Given the description of an element on the screen output the (x, y) to click on. 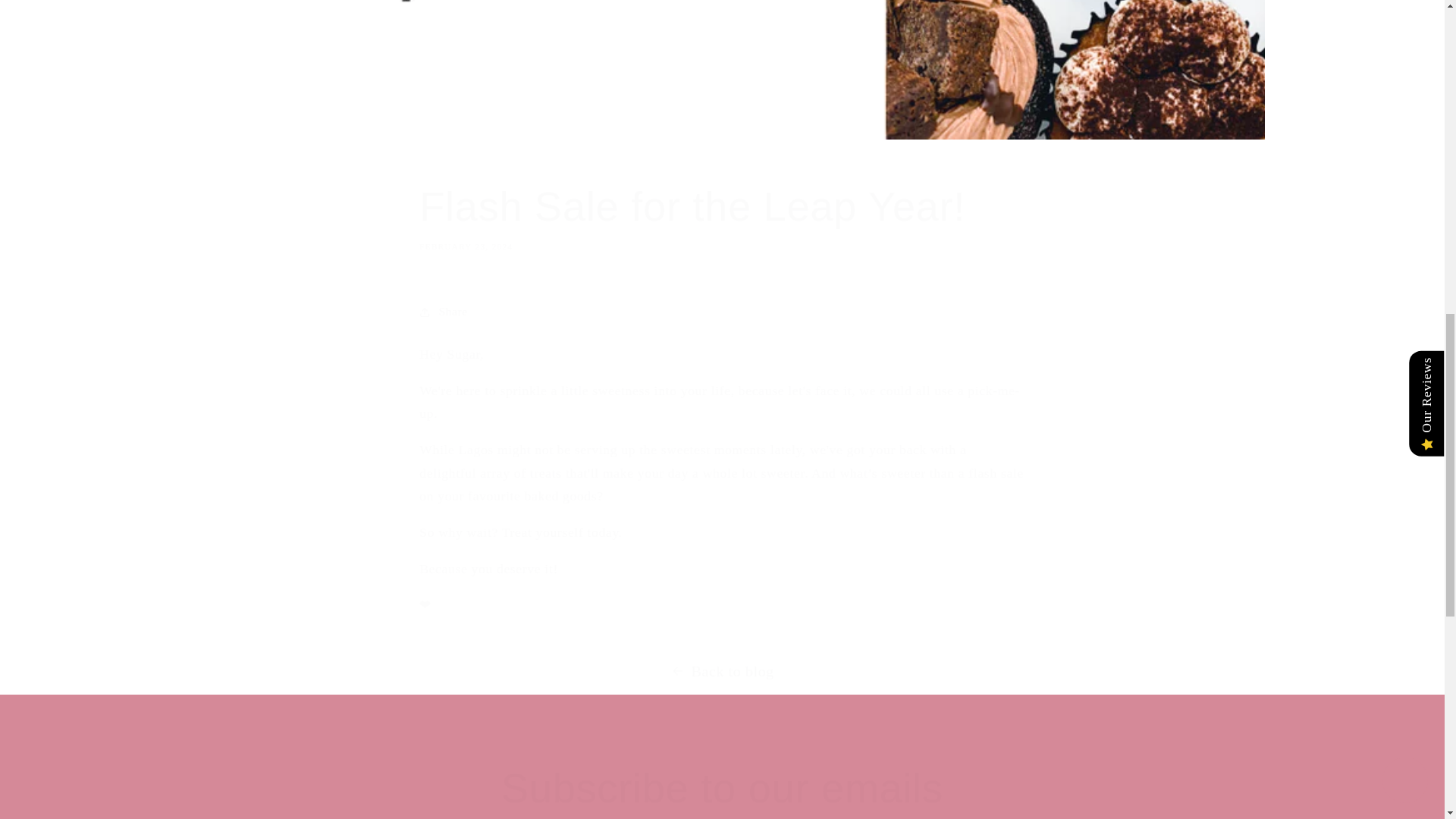
Subscribe to our emails (722, 788)
Share (722, 311)
